Given the description of an element on the screen output the (x, y) to click on. 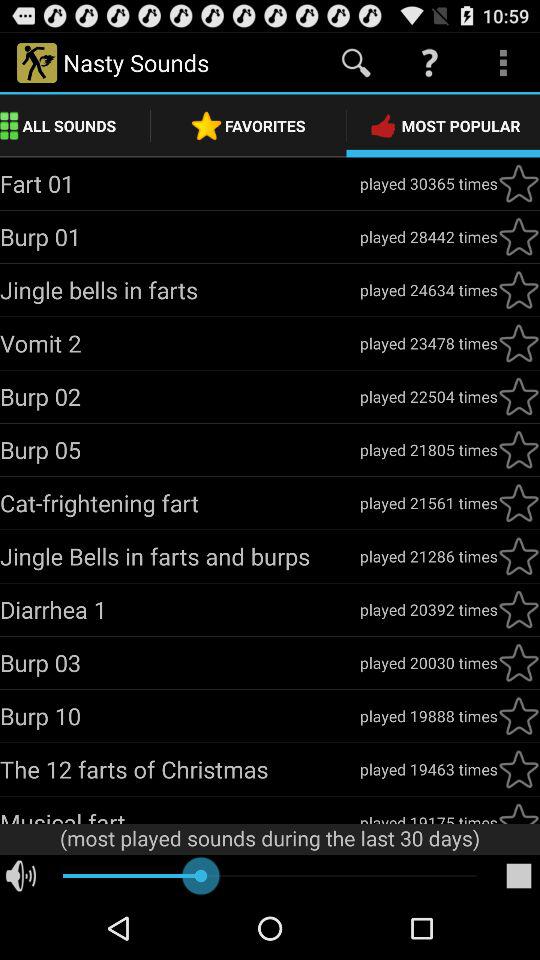
add to favorites (519, 716)
